Given the description of an element on the screen output the (x, y) to click on. 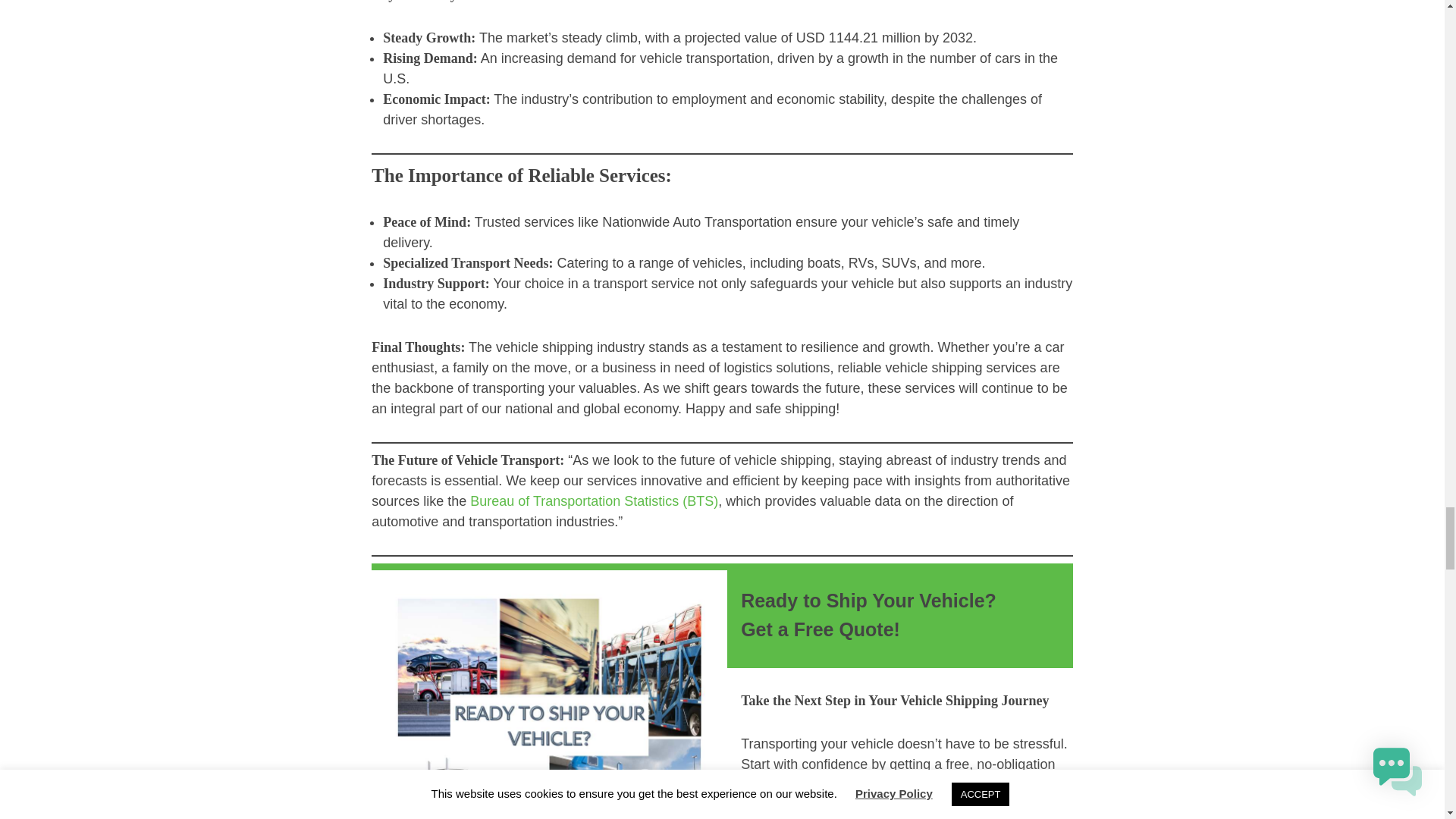
Nationwide Auto Transportation (903, 784)
